Given the description of an element on the screen output the (x, y) to click on. 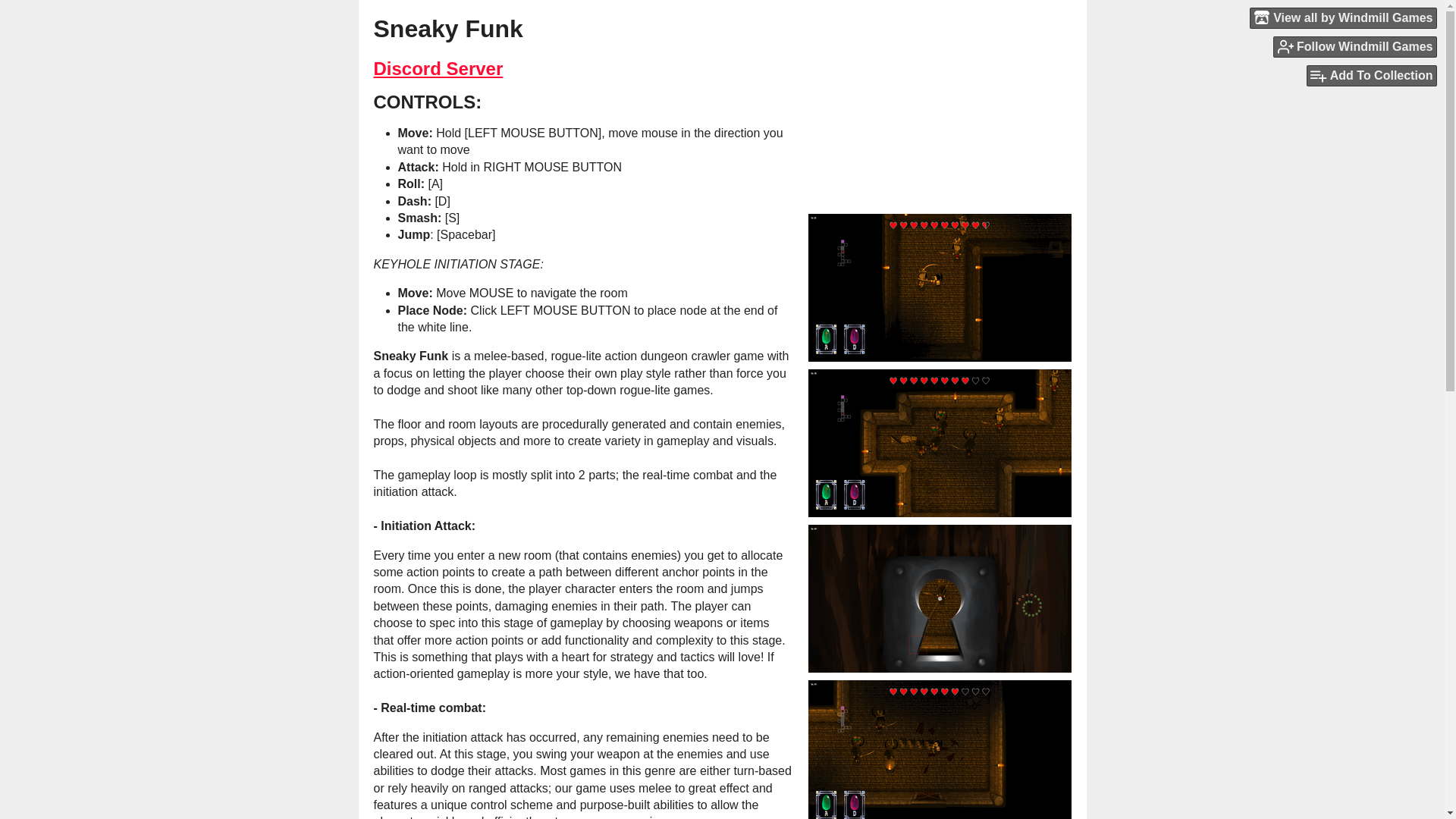
Follow Windmill Games (1354, 46)
Add To Collection (1371, 75)
View all by Windmill Games (1343, 17)
Discord Server (437, 68)
